Given the description of an element on the screen output the (x, y) to click on. 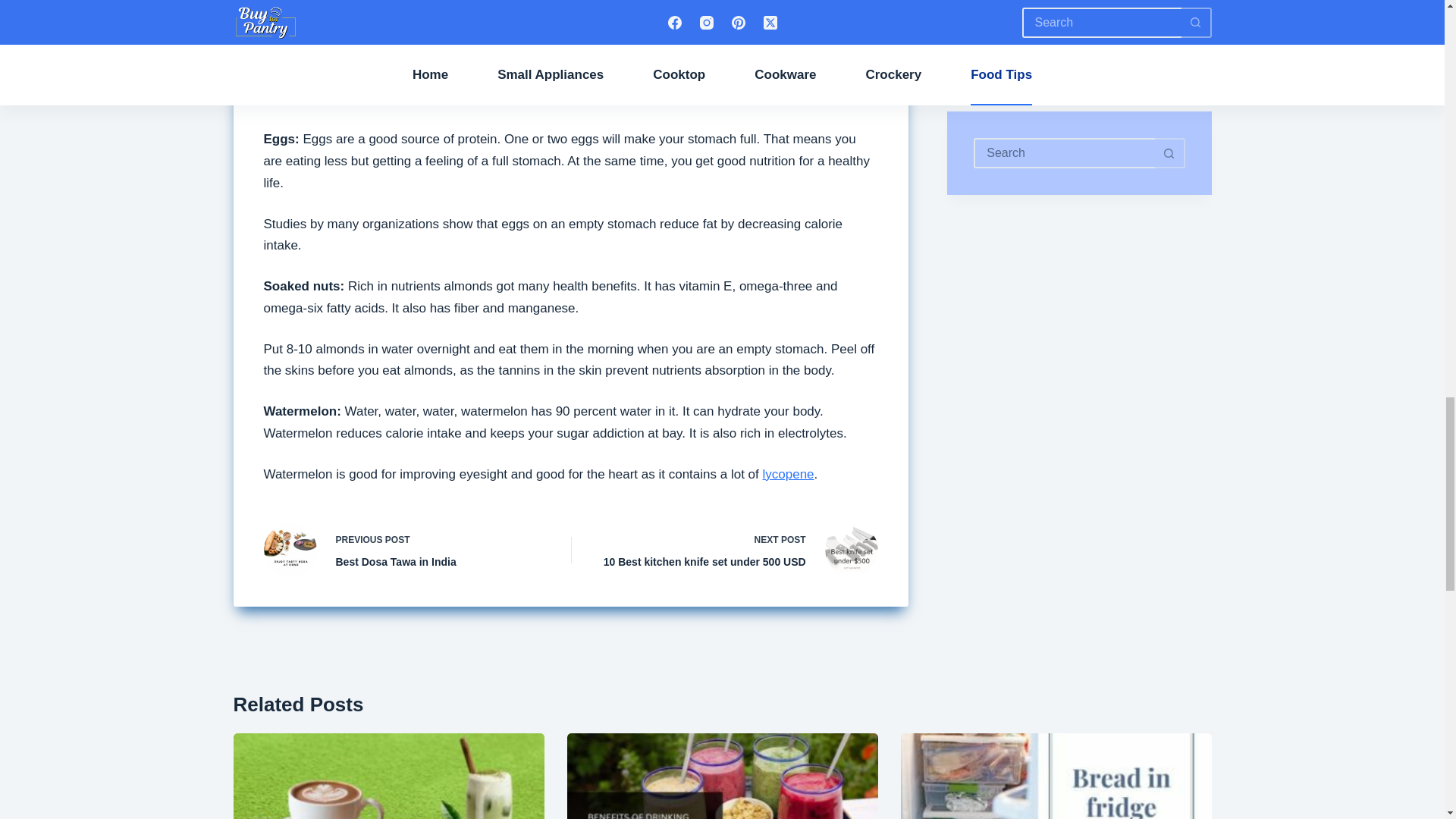
10 Best Chopping Board in India (405, 549)
lycopene (436, 1)
